Given the description of an element on the screen output the (x, y) to click on. 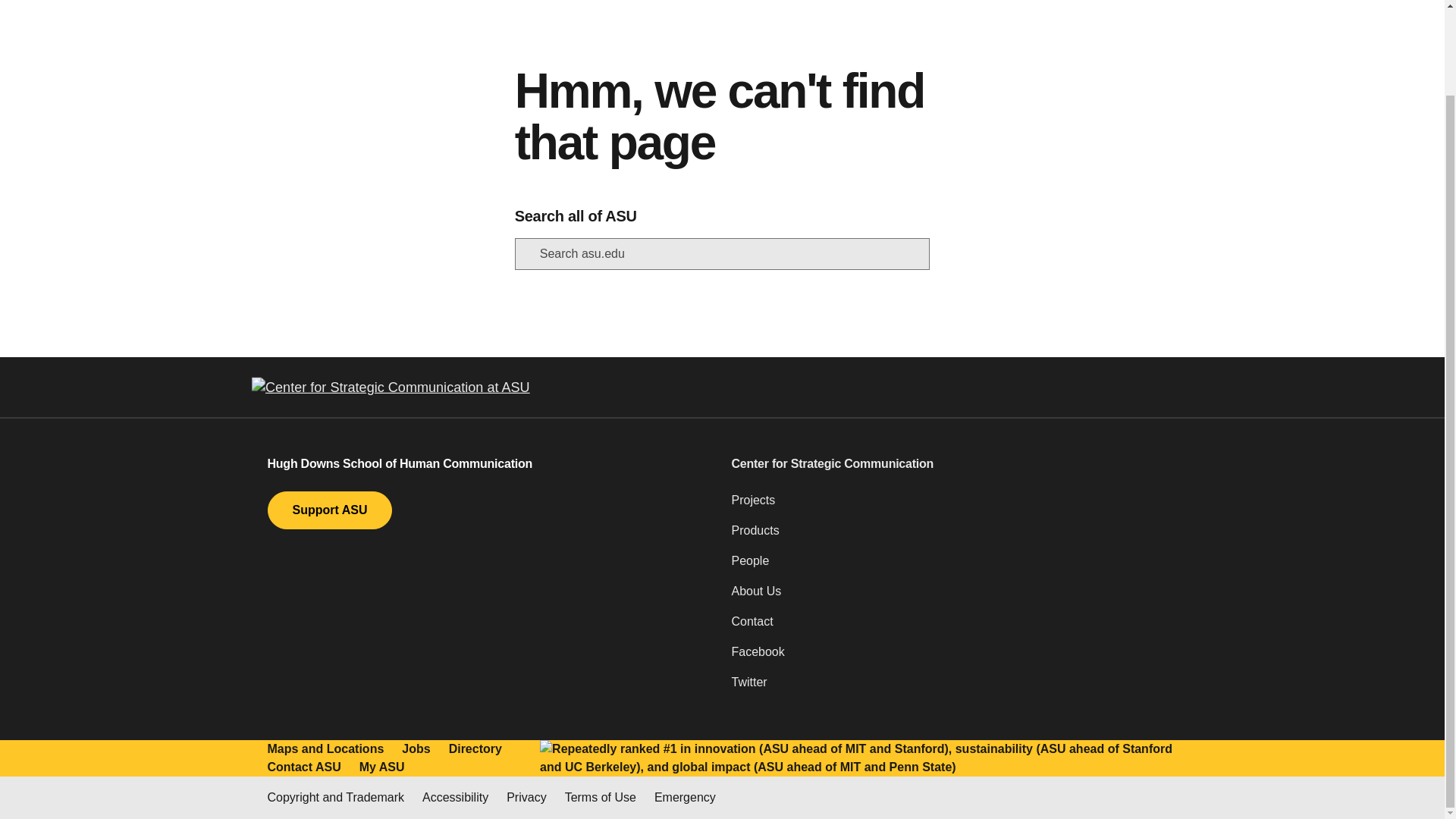
My ASU (381, 767)
Contact ASU (303, 767)
Center for Strategic Communication (953, 464)
Accessibility (454, 797)
Support ASU (328, 510)
Maps and Locations (325, 749)
Contact (953, 627)
Twitter (953, 688)
Privacy (526, 797)
Projects (953, 506)
